Given the description of an element on the screen output the (x, y) to click on. 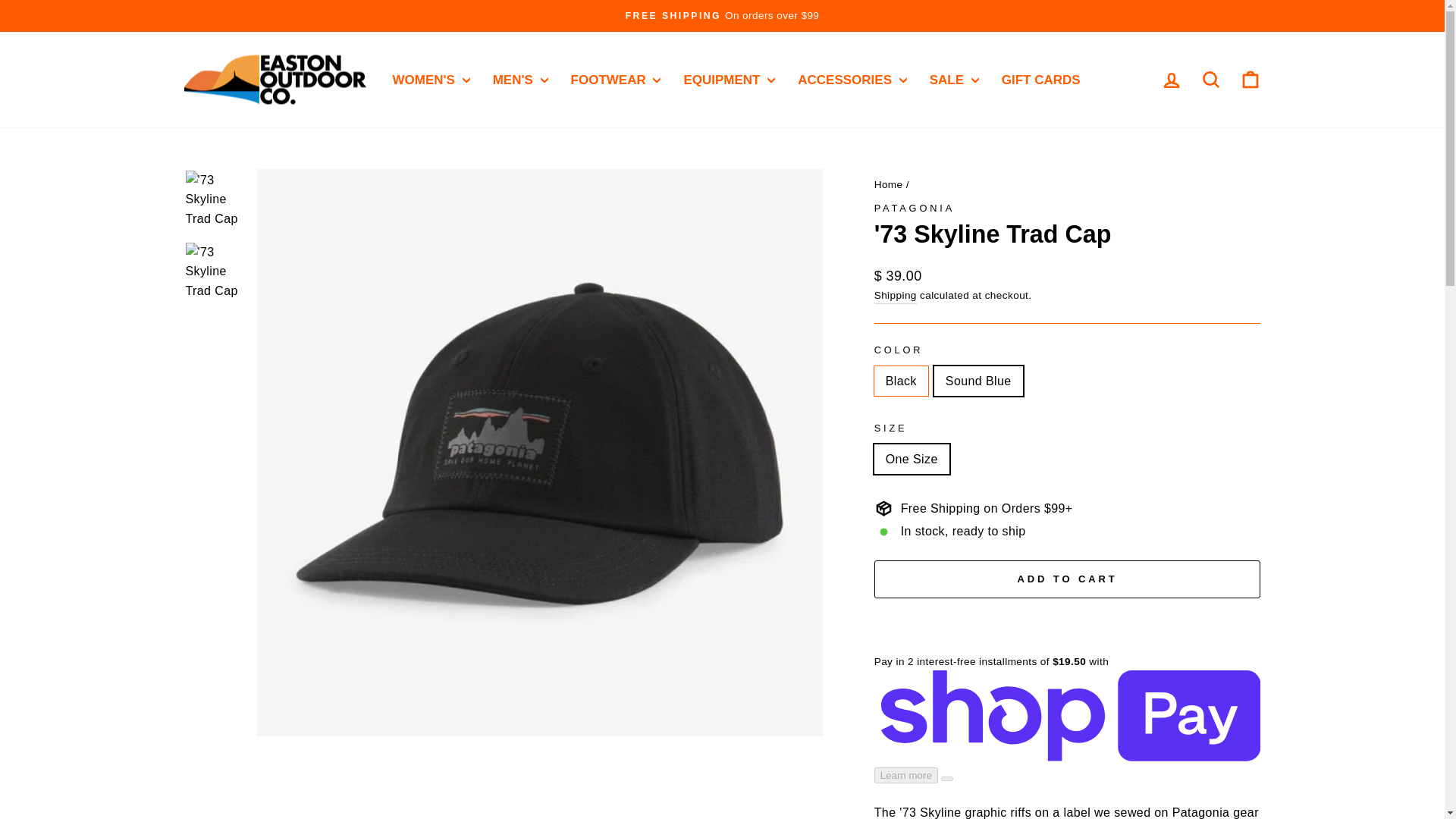
ICON-BAG-MINIMAL (1249, 79)
Back to the frontpage (888, 184)
ACCOUNT (1170, 79)
ICON-SEARCH (1210, 79)
